Given the description of an element on the screen output the (x, y) to click on. 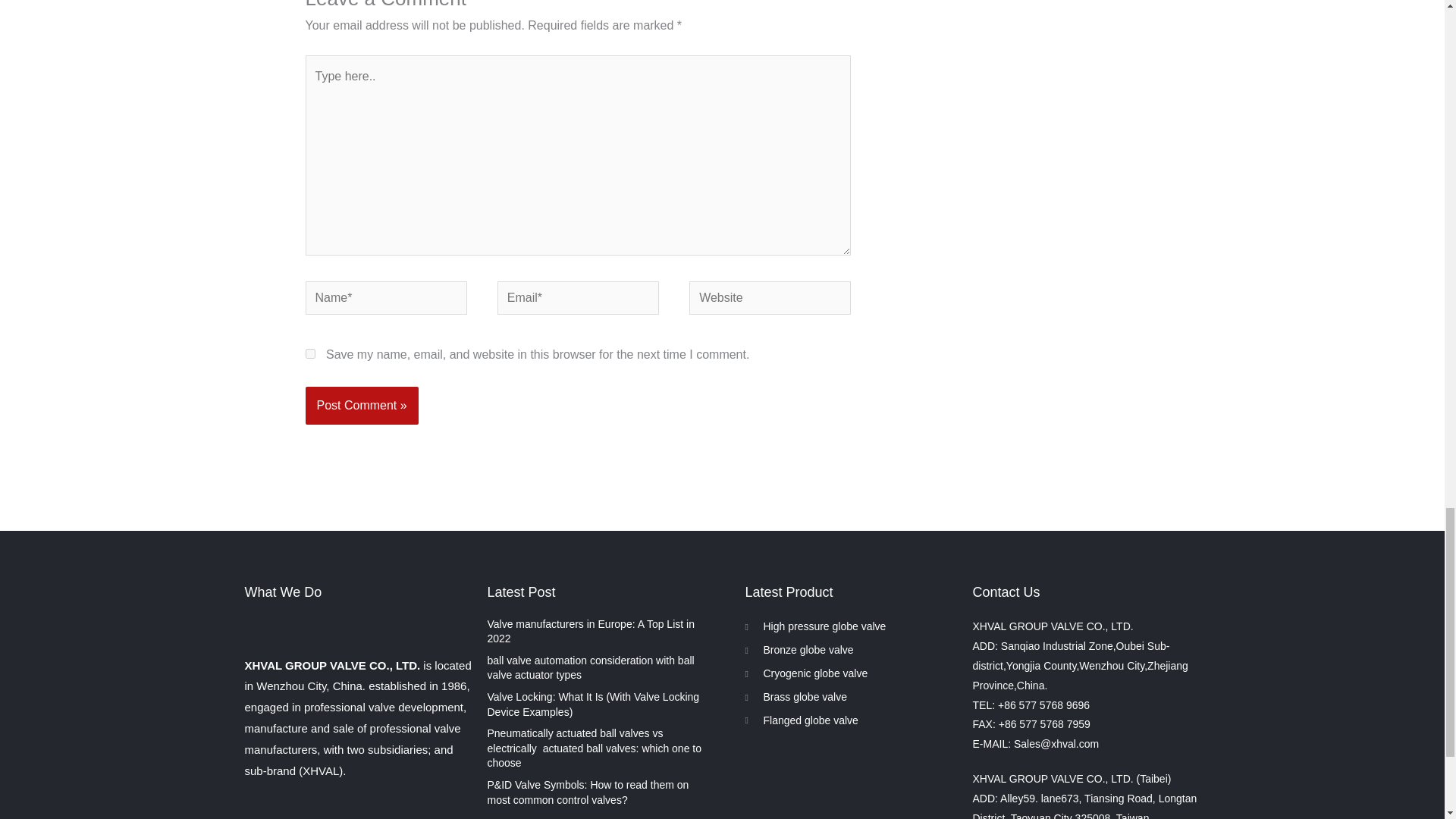
yes (309, 353)
